Given the description of an element on the screen output the (x, y) to click on. 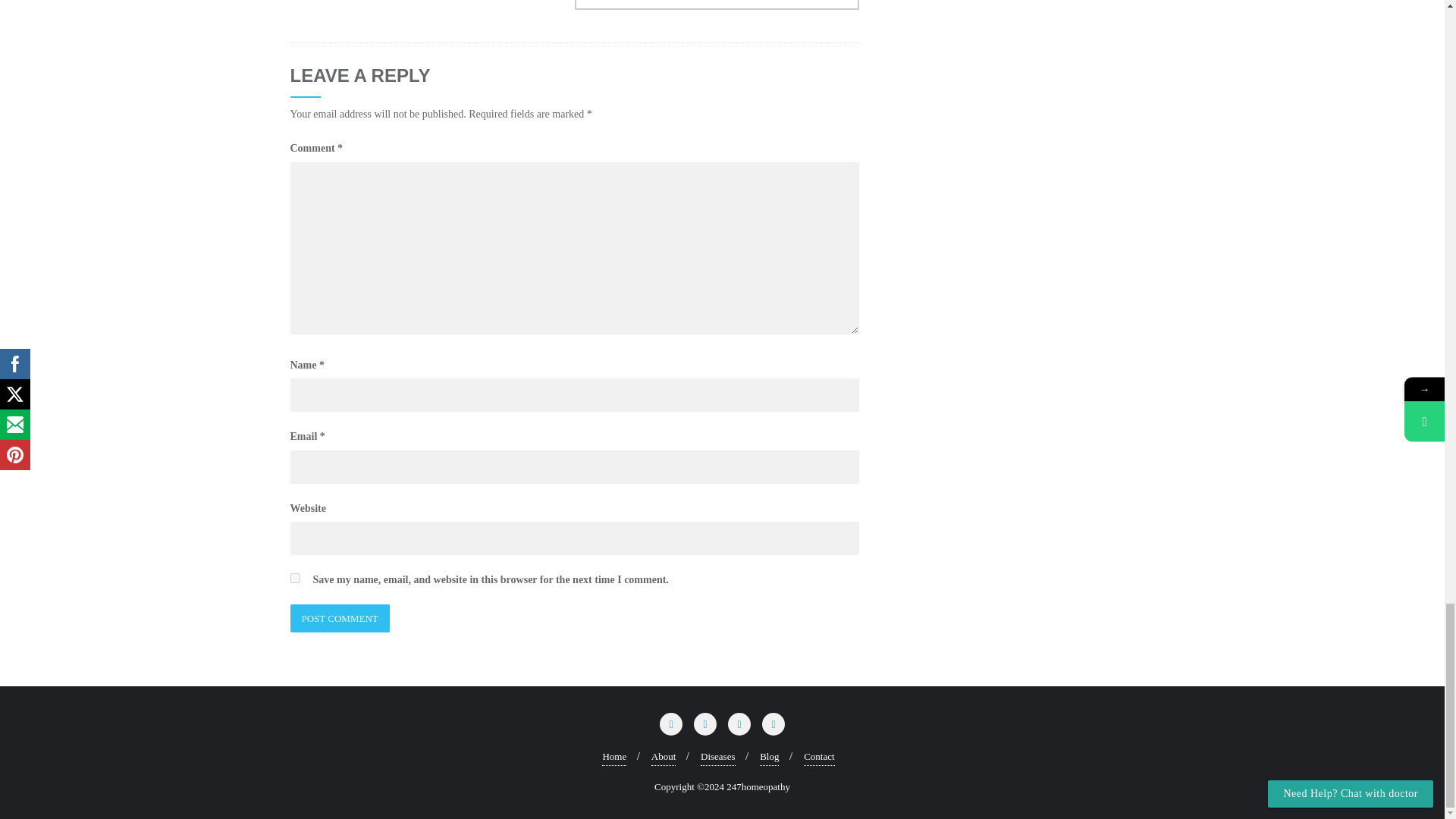
Homeopathy Related Commonly Asked Questions and Answers (717, 4)
Post Comment (338, 618)
yes (294, 578)
Post Comment (338, 618)
